Given the description of an element on the screen output the (x, y) to click on. 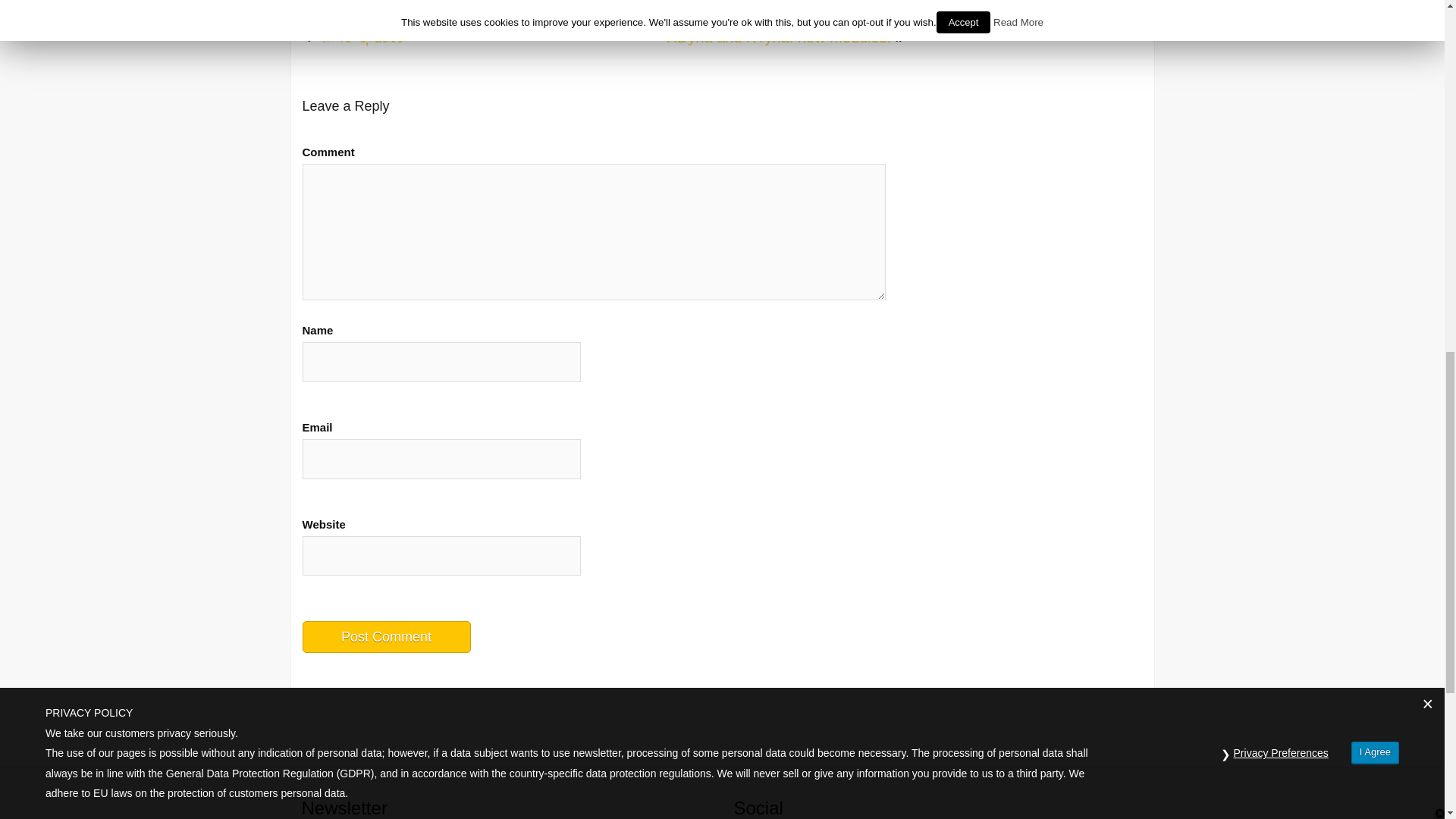
XDyna and XTyna: new modules. (778, 36)
News update (358, 36)
Post Comment (385, 636)
Post Comment (385, 636)
July 2016 (971, 5)
